Given the description of an element on the screen output the (x, y) to click on. 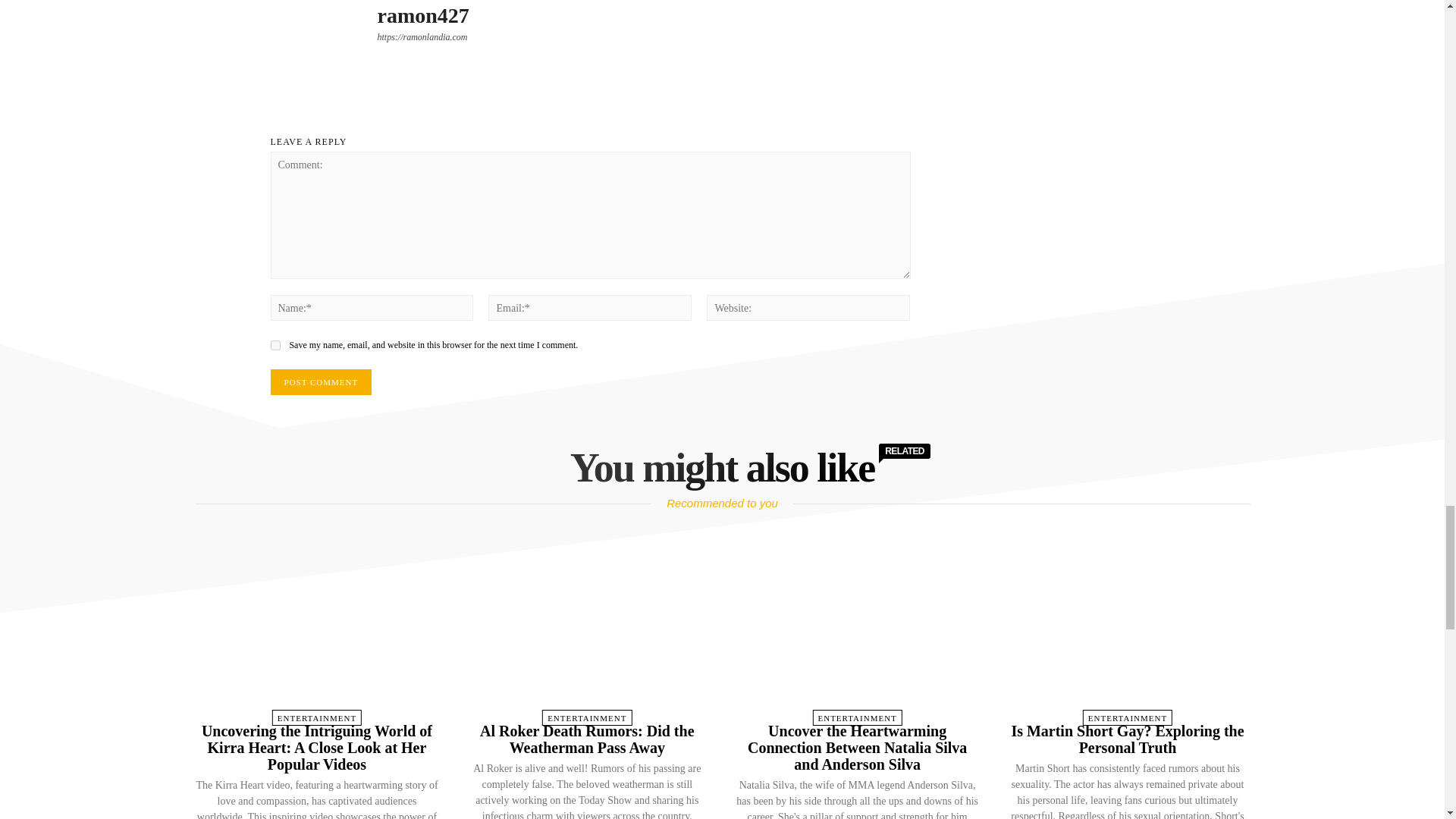
Post Comment (320, 381)
yes (274, 345)
